Given the description of an element on the screen output the (x, y) to click on. 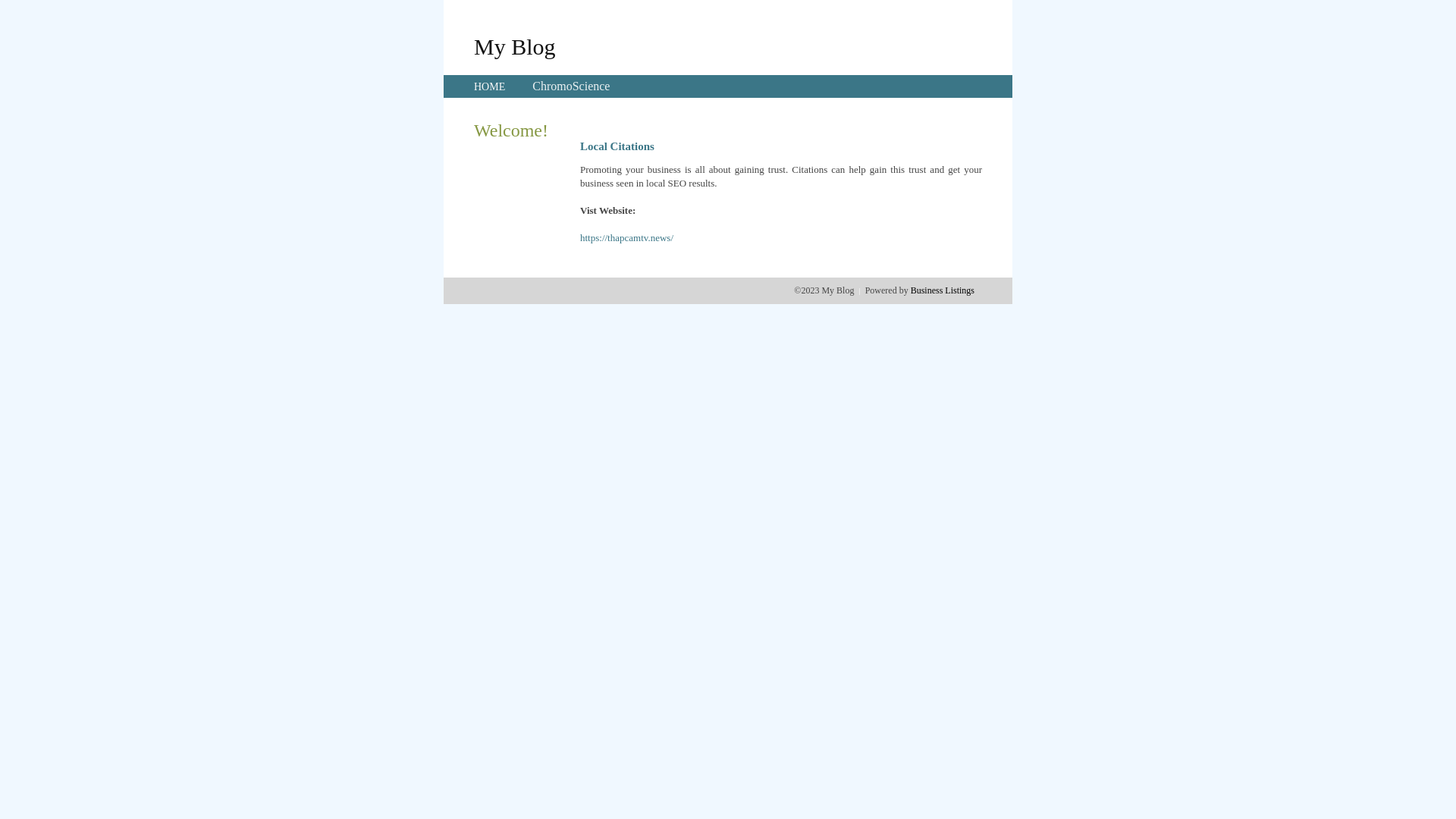
My Blog Element type: text (514, 46)
https://thapcamtv.news/ Element type: text (626, 237)
Business Listings Element type: text (942, 290)
HOME Element type: text (489, 86)
ChromoScience Element type: text (570, 85)
